Given the description of an element on the screen output the (x, y) to click on. 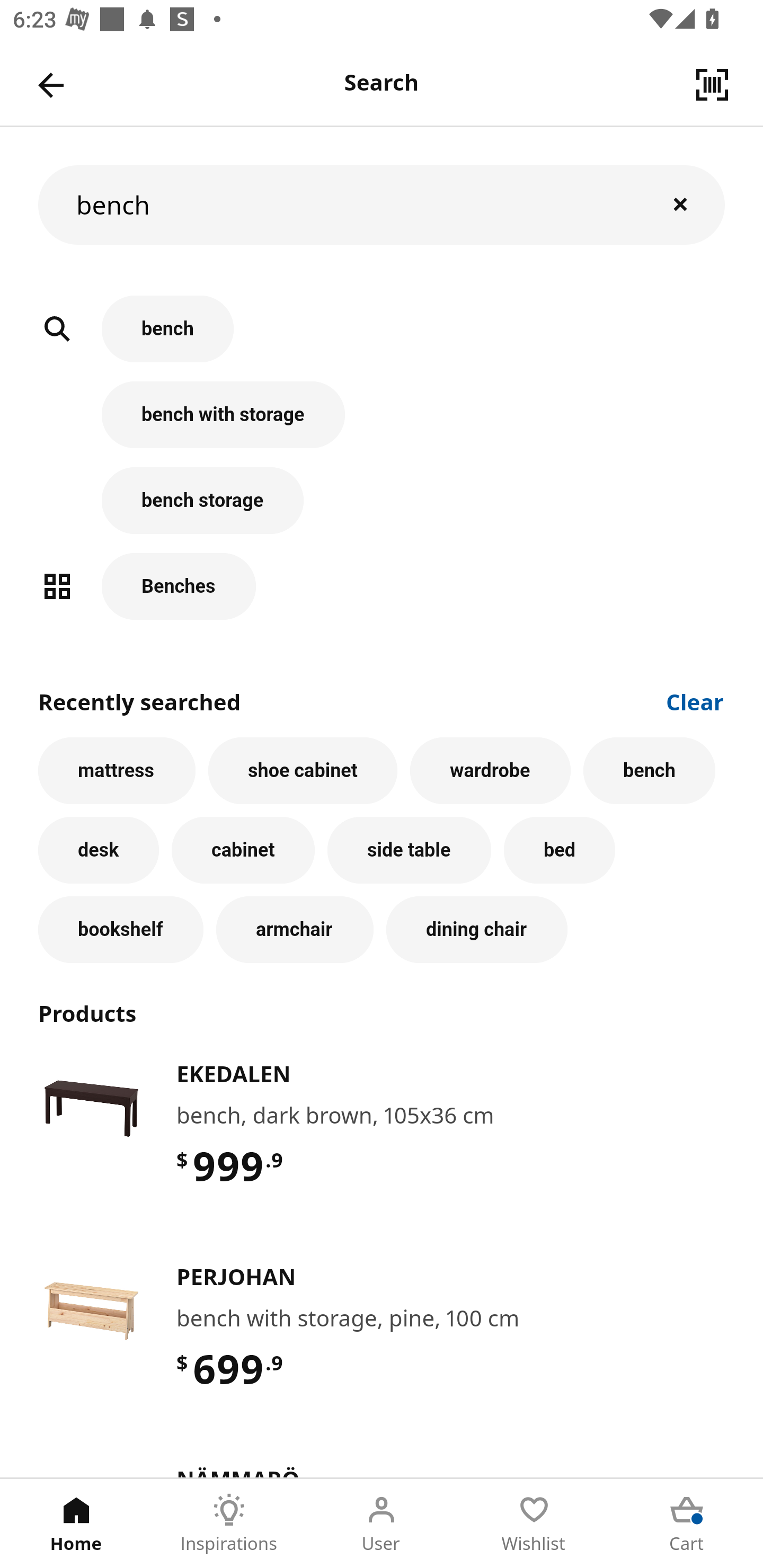
bench (381, 204)
bench (381, 338)
bench with storage (381, 424)
bench storage (381, 510)
Benches (381, 586)
Clear (695, 700)
mattress (116, 770)
shoe cabinet (302, 770)
wardrobe (490, 770)
bench (649, 770)
desk (98, 850)
cabinet (242, 850)
side table (409, 850)
bed (558, 850)
bookshelf (120, 929)
armchair (294, 929)
dining chair (476, 929)
Home
Tab 1 of 5 (76, 1522)
Inspirations
Tab 2 of 5 (228, 1522)
User
Tab 3 of 5 (381, 1522)
Wishlist
Tab 4 of 5 (533, 1522)
Cart
Tab 5 of 5 (686, 1522)
